Given the description of an element on the screen output the (x, y) to click on. 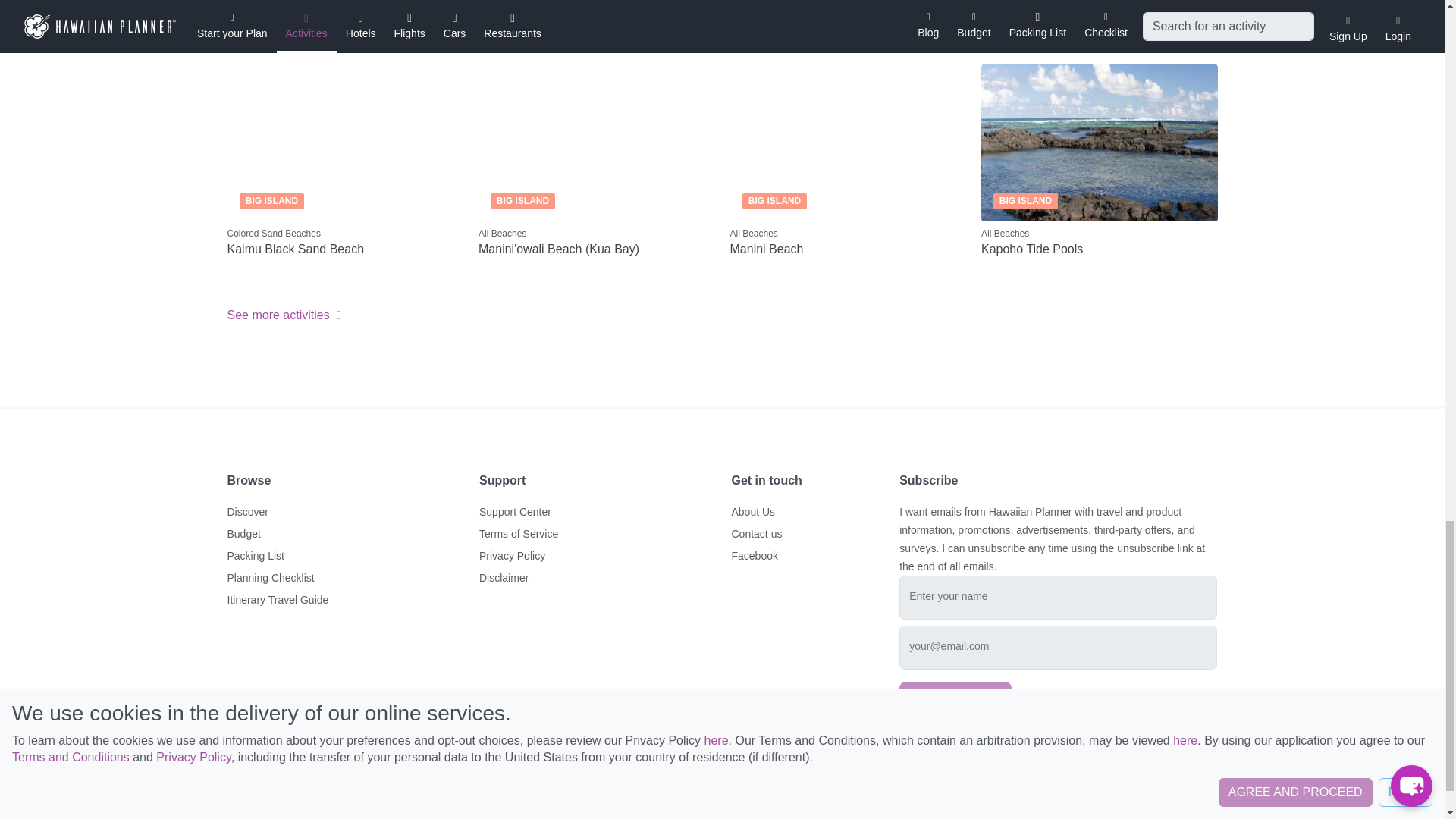
Kapoho Tide Pools (1099, 248)
Manini Beach (847, 248)
Kaimu Black Sand Beach (345, 248)
